Given the description of an element on the screen output the (x, y) to click on. 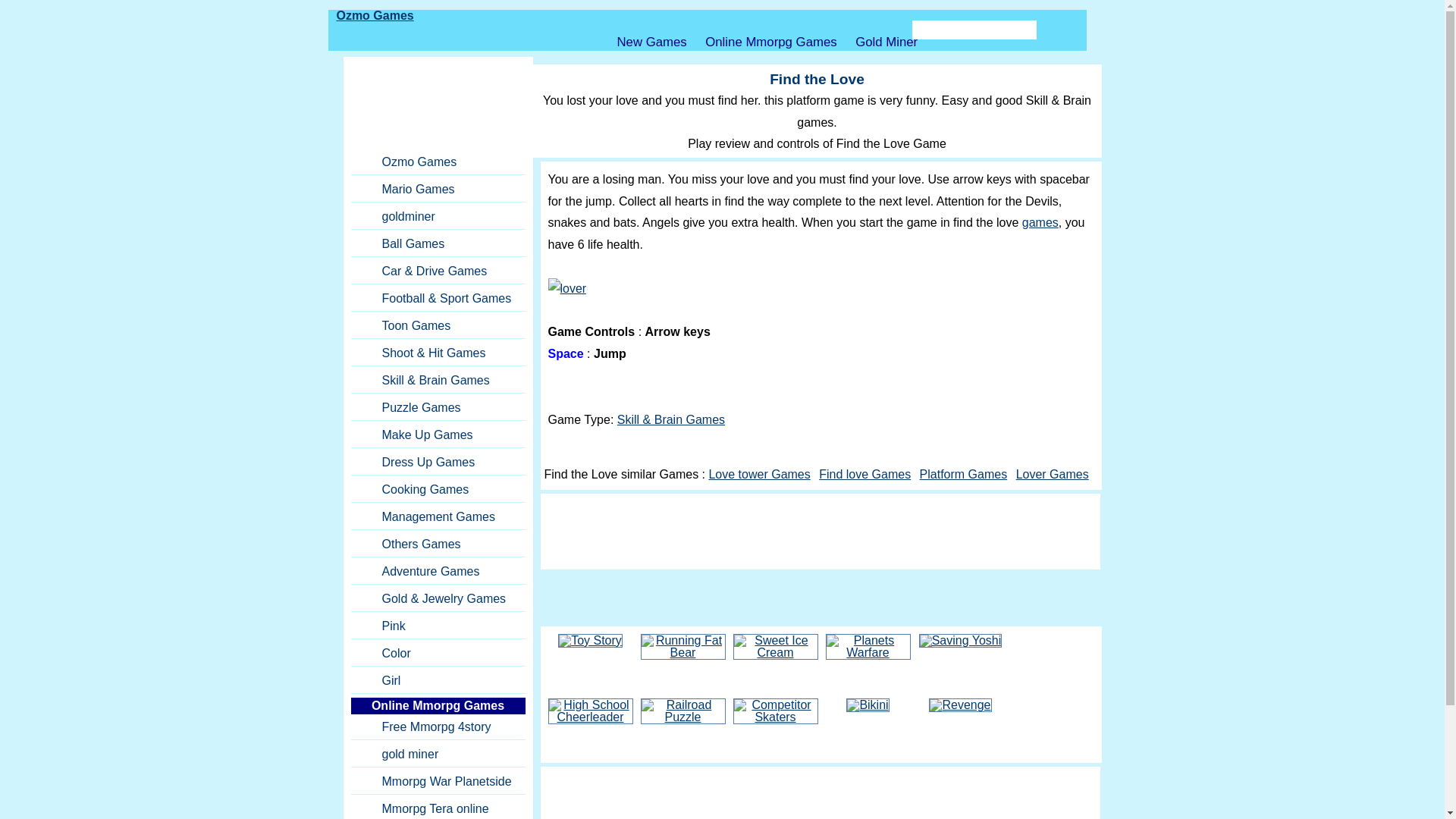
Management Games (436, 516)
Mario Games (436, 189)
Toon Games (436, 325)
Others Games (436, 543)
Free Mmorpg 4story (436, 726)
Adventure Games (436, 571)
gold miner (436, 753)
games (1040, 222)
Puzzle Games (436, 407)
goldminer (436, 216)
